Given the description of an element on the screen output the (x, y) to click on. 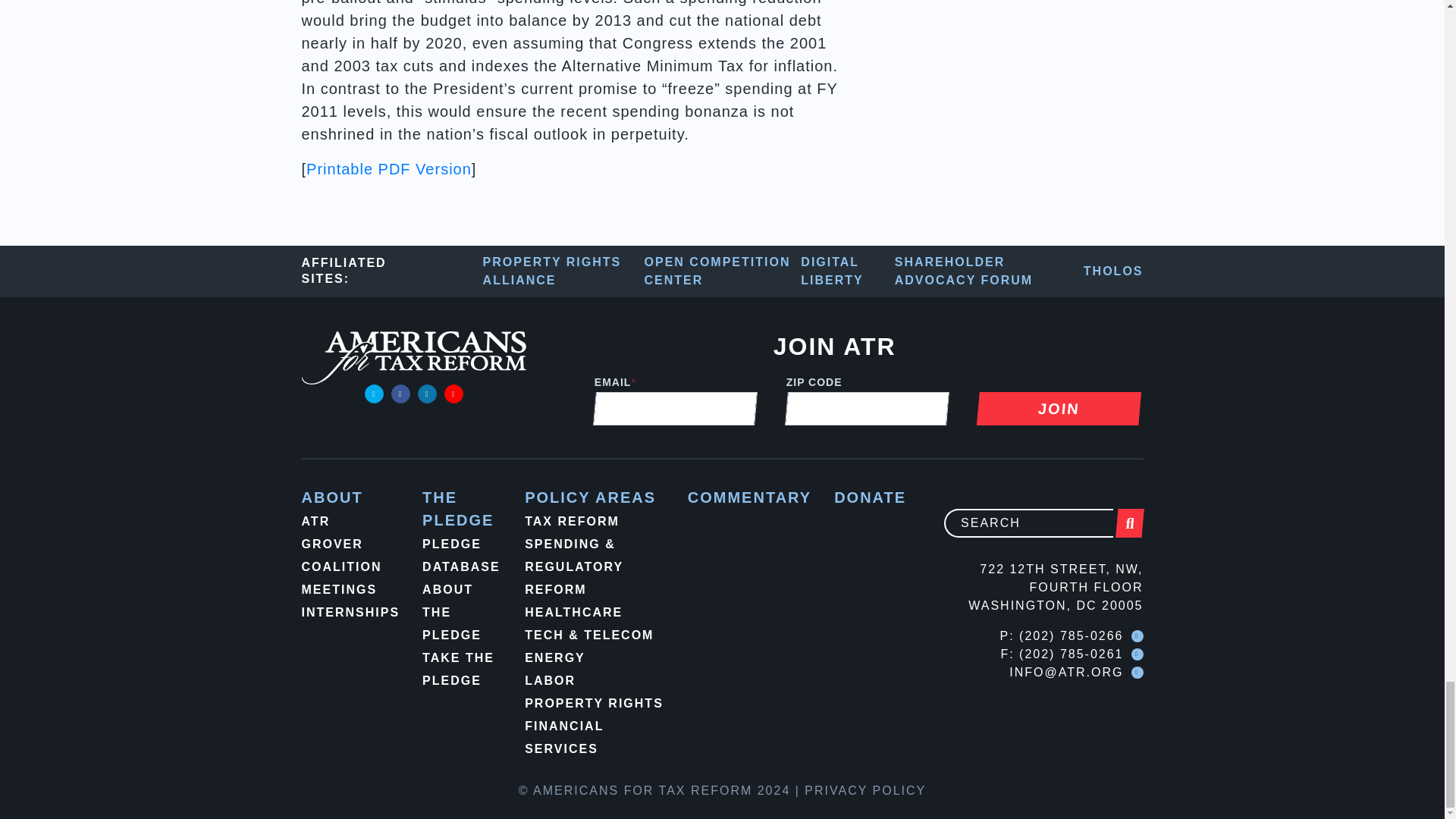
OPEN COMPETITION CENTER (723, 271)
Join (1057, 408)
Printable PDF Version (388, 168)
PROPERTY RIGHTS ALLIANCE (564, 271)
DIGITAL LIBERTY (846, 271)
